Given the description of an element on the screen output the (x, y) to click on. 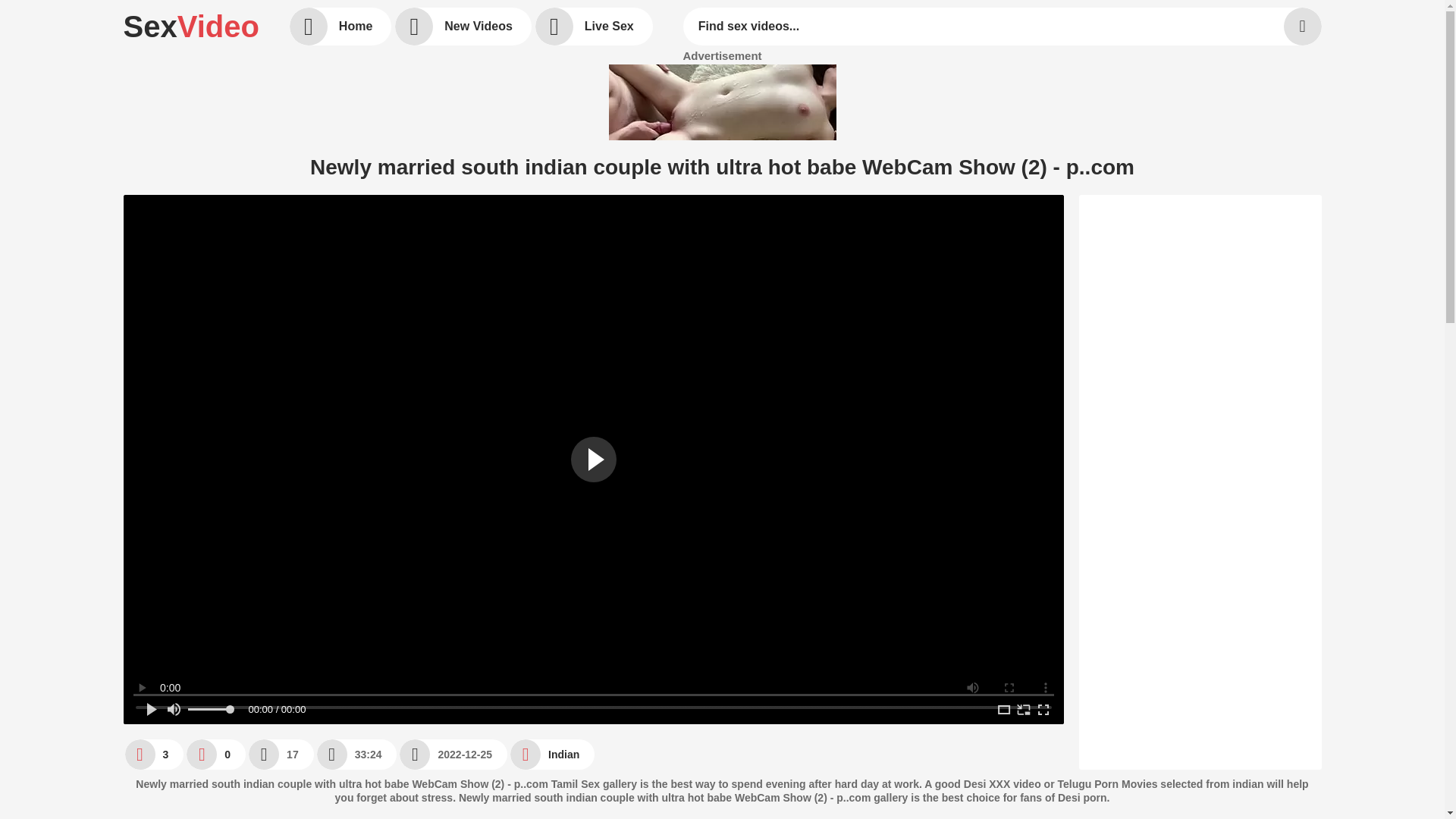
Like It (153, 753)
Indian (552, 753)
Search (1301, 26)
Indian (552, 753)
New Videos (462, 26)
SexVideo (190, 26)
Home (340, 26)
Home (340, 26)
Live Sex (593, 26)
Don't Like It (216, 753)
